Given the description of an element on the screen output the (x, y) to click on. 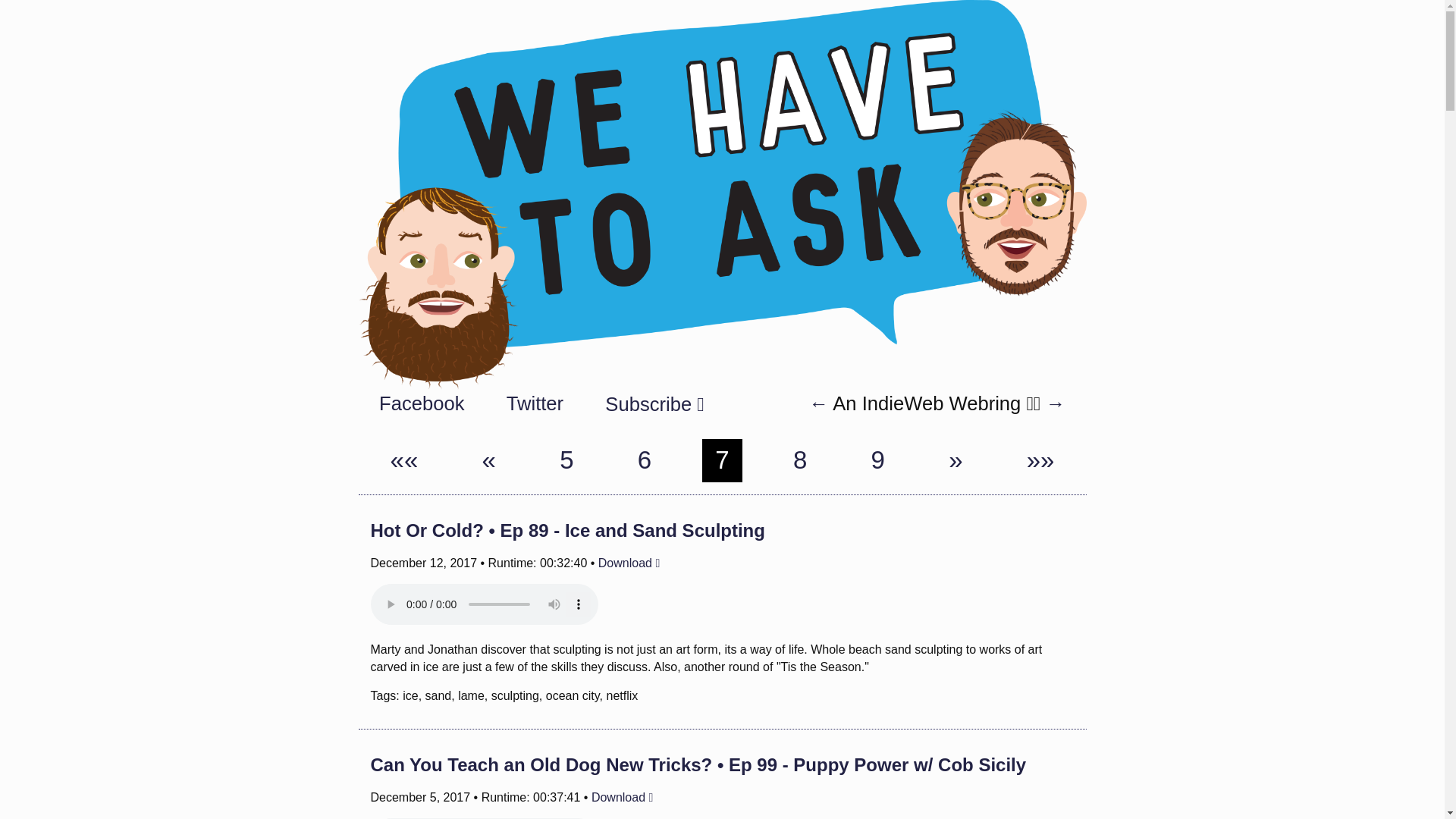
Twitter (534, 404)
6 (643, 460)
9 (877, 460)
8 (798, 460)
Facebook (421, 404)
5 (566, 460)
Download (621, 797)
7 (721, 460)
Subscribe (654, 403)
Download (628, 562)
